Given the description of an element on the screen output the (x, y) to click on. 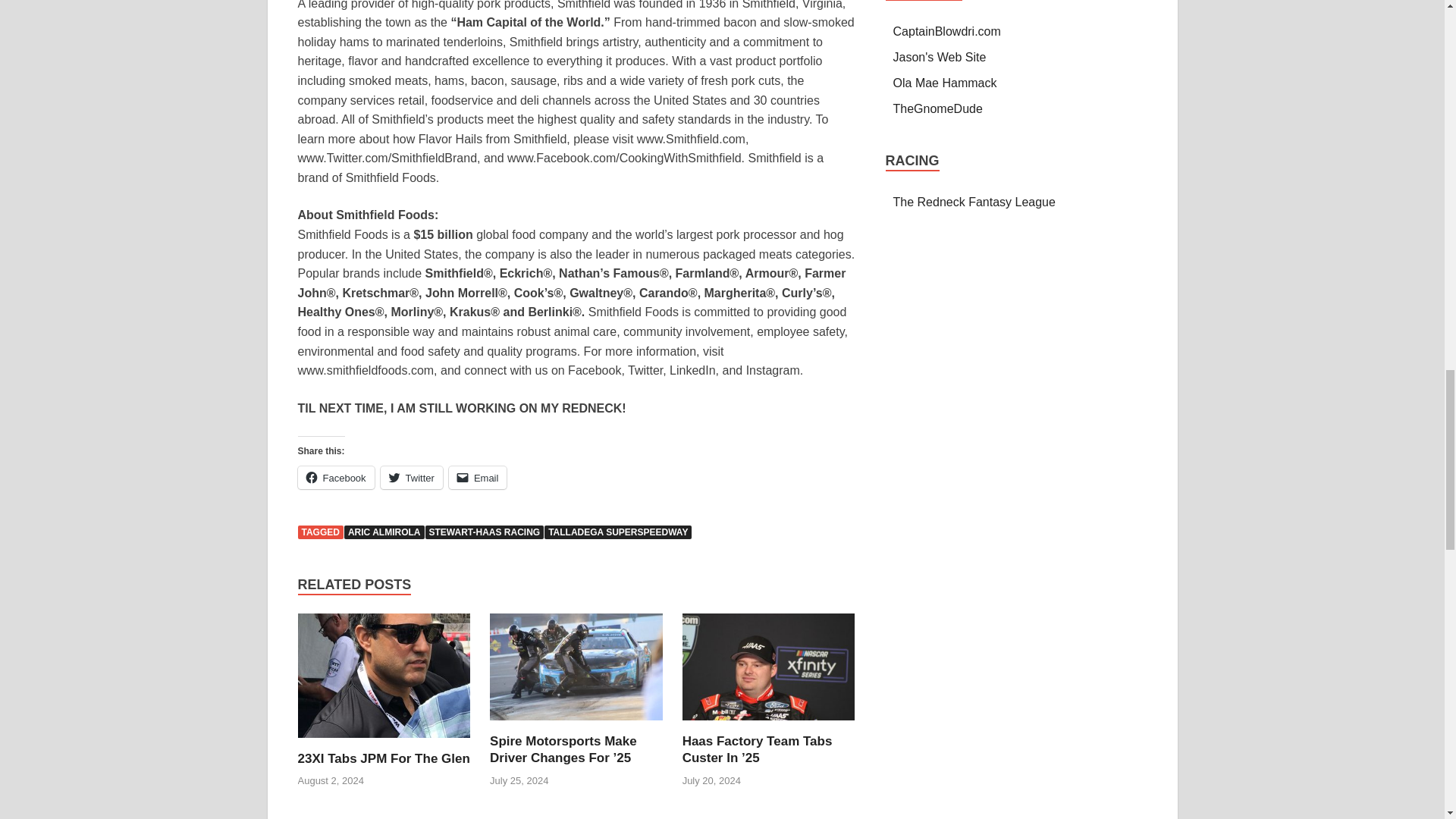
Click to share on Twitter (411, 477)
Email (477, 477)
23XI Tabs JPM For The Glen (382, 758)
Twitter (411, 477)
Click to share on Facebook (335, 477)
23XI Tabs JPM For The Glen (383, 680)
Facebook (335, 477)
Click to email a link to a friend (477, 477)
TALLADEGA SUPERSPEEDWAY (617, 531)
23XI Tabs JPM For The Glen (382, 758)
ARIC ALMIROLA (384, 531)
STEWART-HAAS RACING (484, 531)
